Given the description of an element on the screen output the (x, y) to click on. 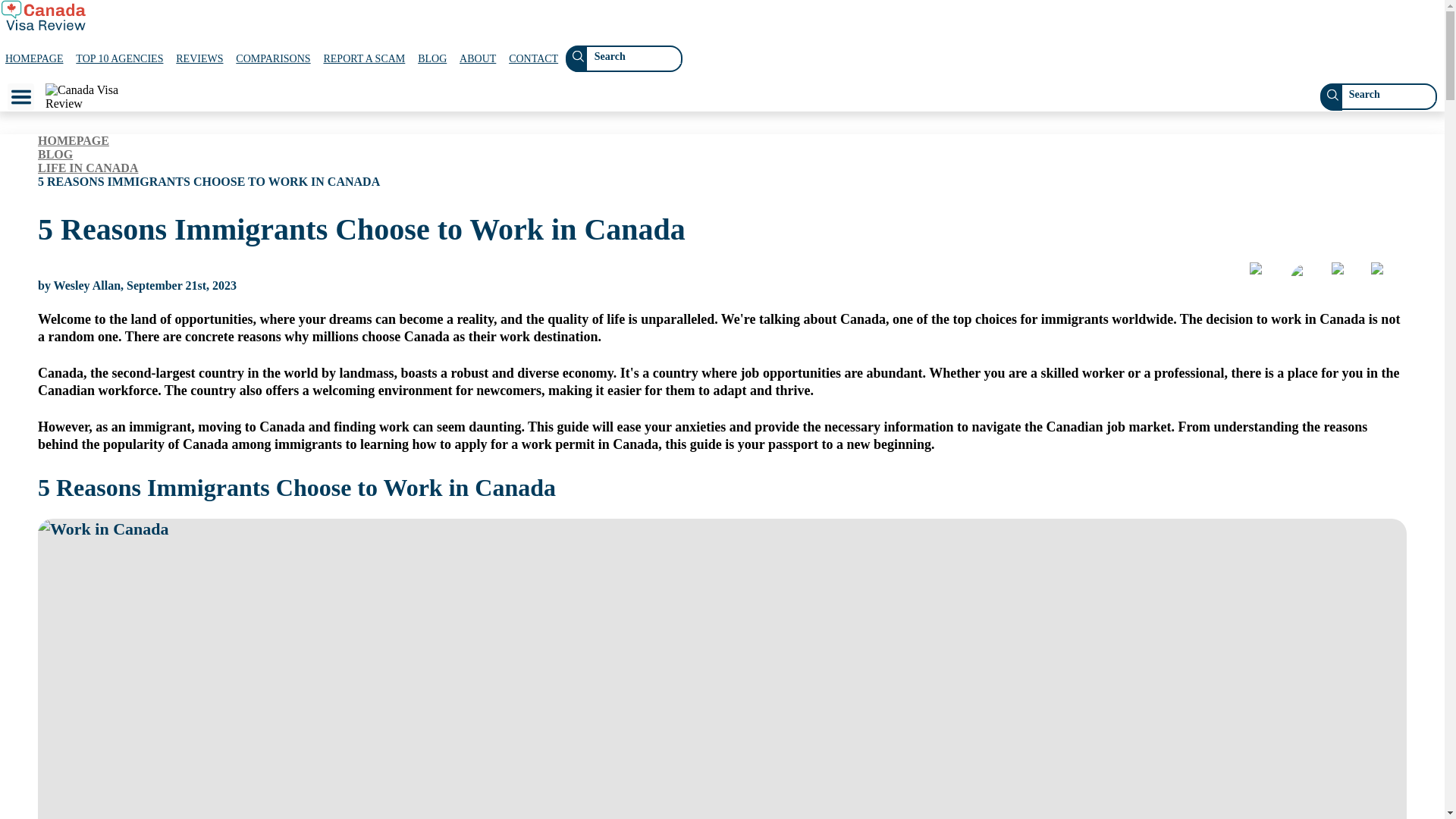
HOMEPAGE (73, 140)
ABOUT (477, 58)
REVIEWS (199, 58)
HOMEPAGE (34, 58)
COMPARISONS (272, 58)
CONTACT (533, 58)
ABOUT (477, 58)
Canada Visa Review (87, 96)
REPORT A SCAM (363, 58)
REVIEWS (199, 58)
